Given the description of an element on the screen output the (x, y) to click on. 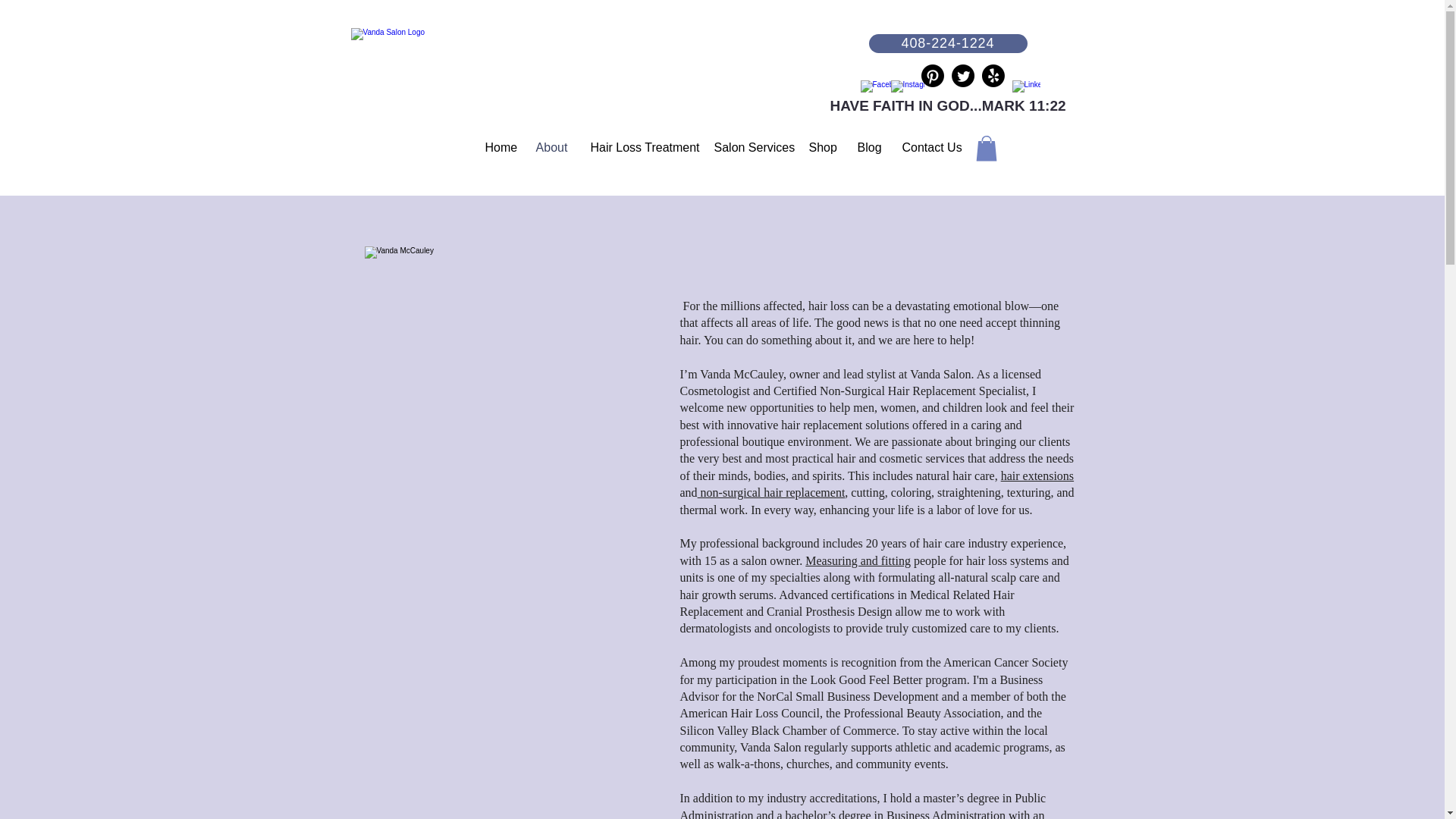
Measuring and fitting (858, 560)
Home (498, 147)
Hair Loss Treatment (641, 147)
hair extensions (1037, 475)
non-surgical hair replacement (771, 492)
408-224-1224 (948, 43)
Shop (821, 147)
Blog (868, 147)
About (551, 147)
Salon Services (748, 147)
